Given the description of an element on the screen output the (x, y) to click on. 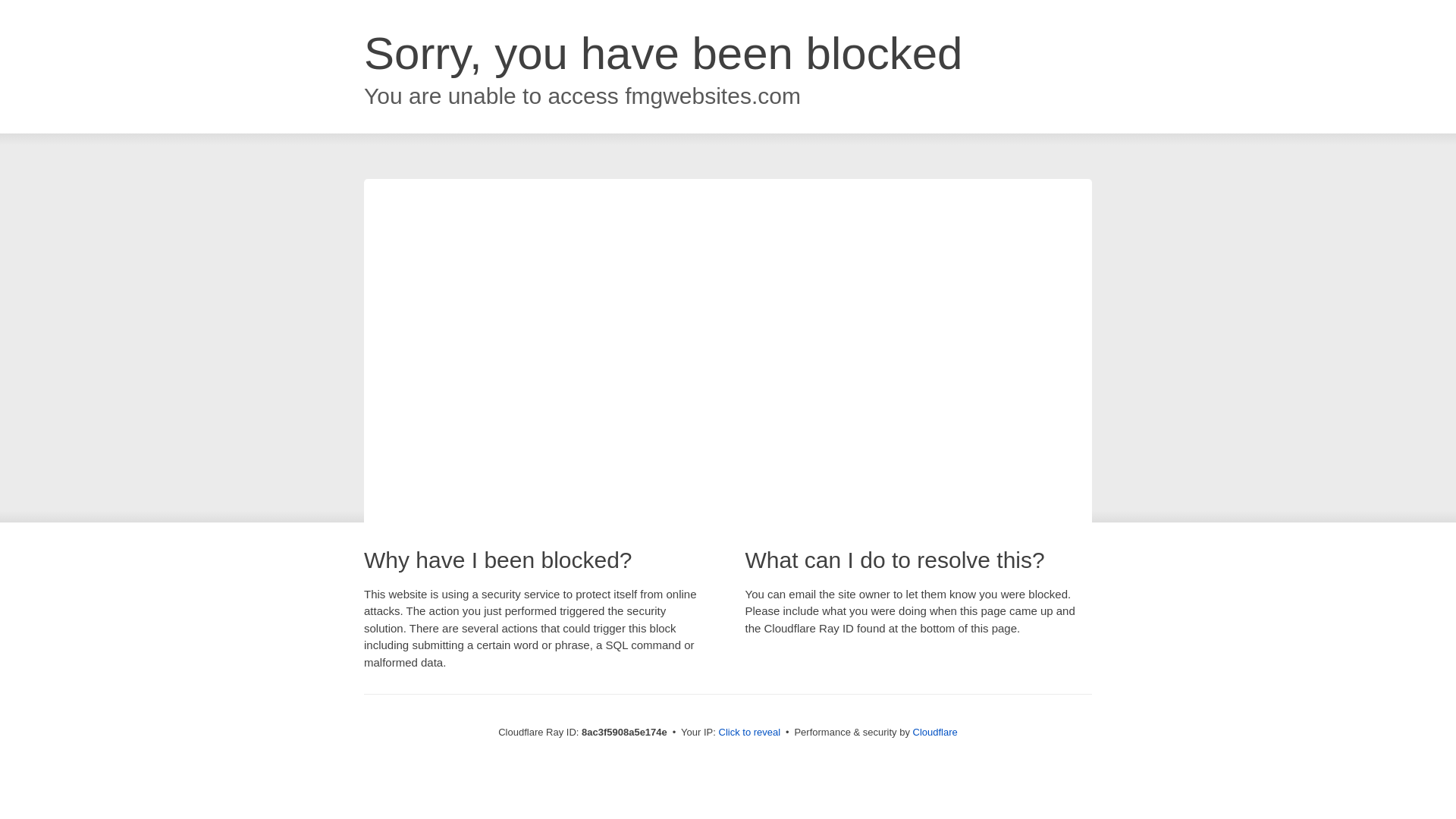
Click to reveal (749, 732)
Cloudflare (935, 731)
